Given the description of an element on the screen output the (x, y) to click on. 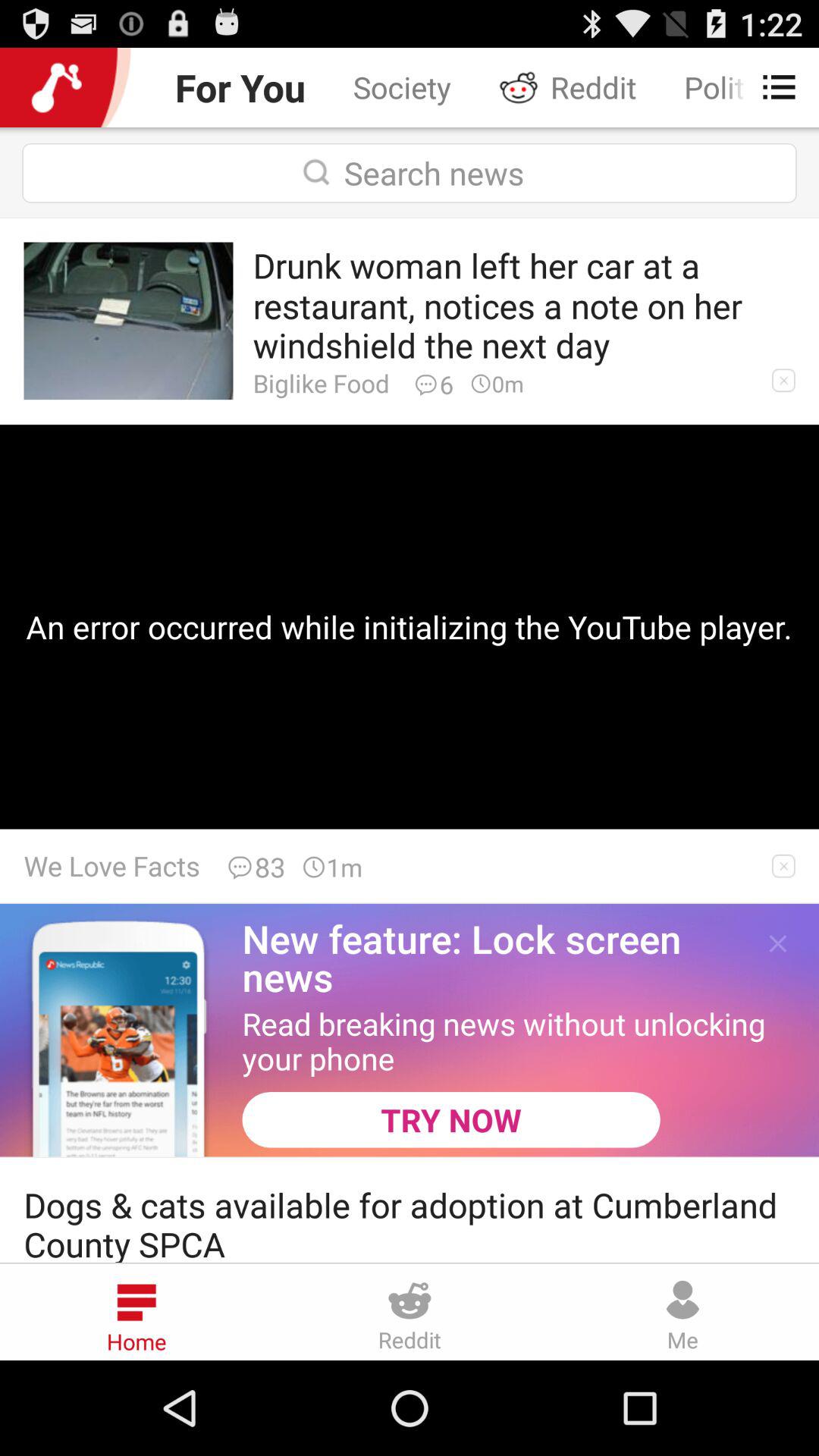
turn on icon next to the for you (401, 87)
